Given the description of an element on the screen output the (x, y) to click on. 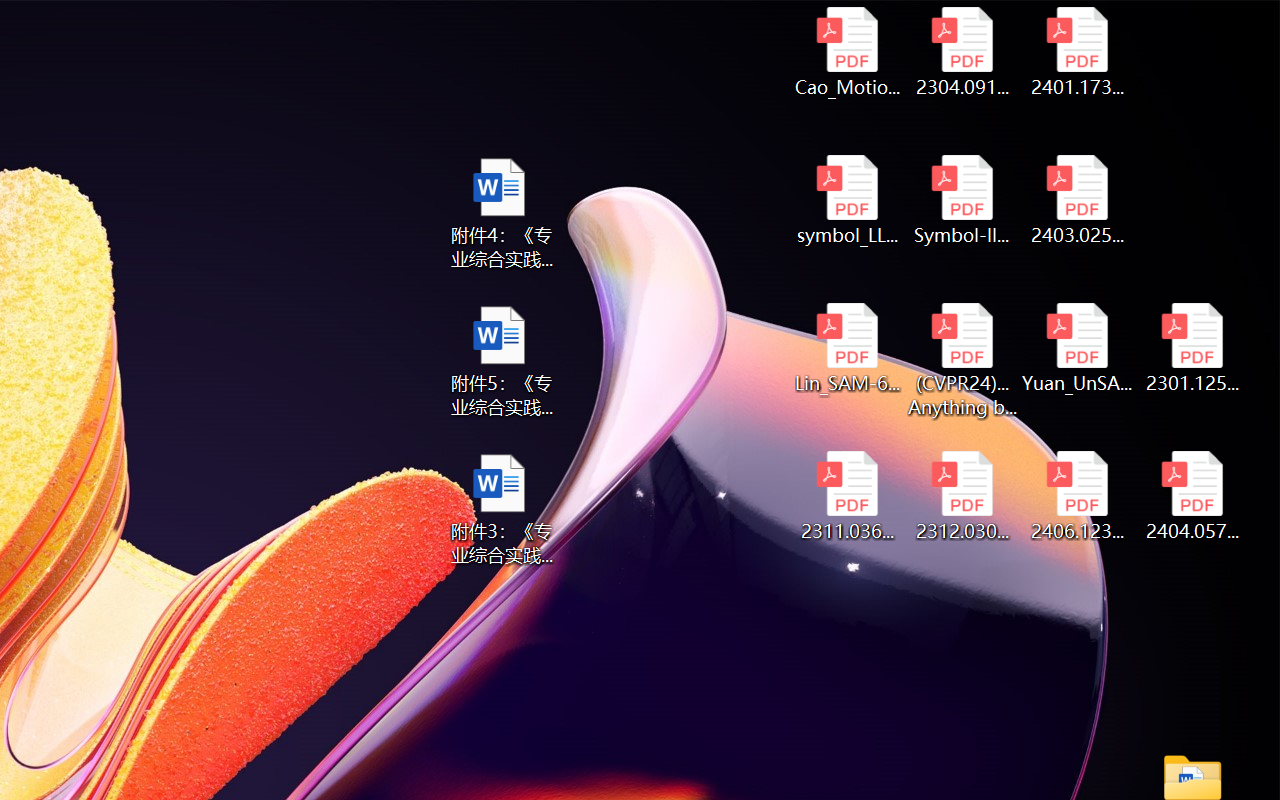
Symbol-llm-v2.pdf (962, 200)
2311.03658v2.pdf (846, 496)
(CVPR24)Matching Anything by Segmenting Anything.pdf (962, 360)
2404.05719v1.pdf (1192, 496)
2401.17399v1.pdf (1077, 52)
2403.02502v1.pdf (1077, 200)
2304.09121v3.pdf (962, 52)
2312.03032v2.pdf (962, 496)
symbol_LLM.pdf (846, 200)
2406.12373v2.pdf (1077, 496)
